Given the description of an element on the screen output the (x, y) to click on. 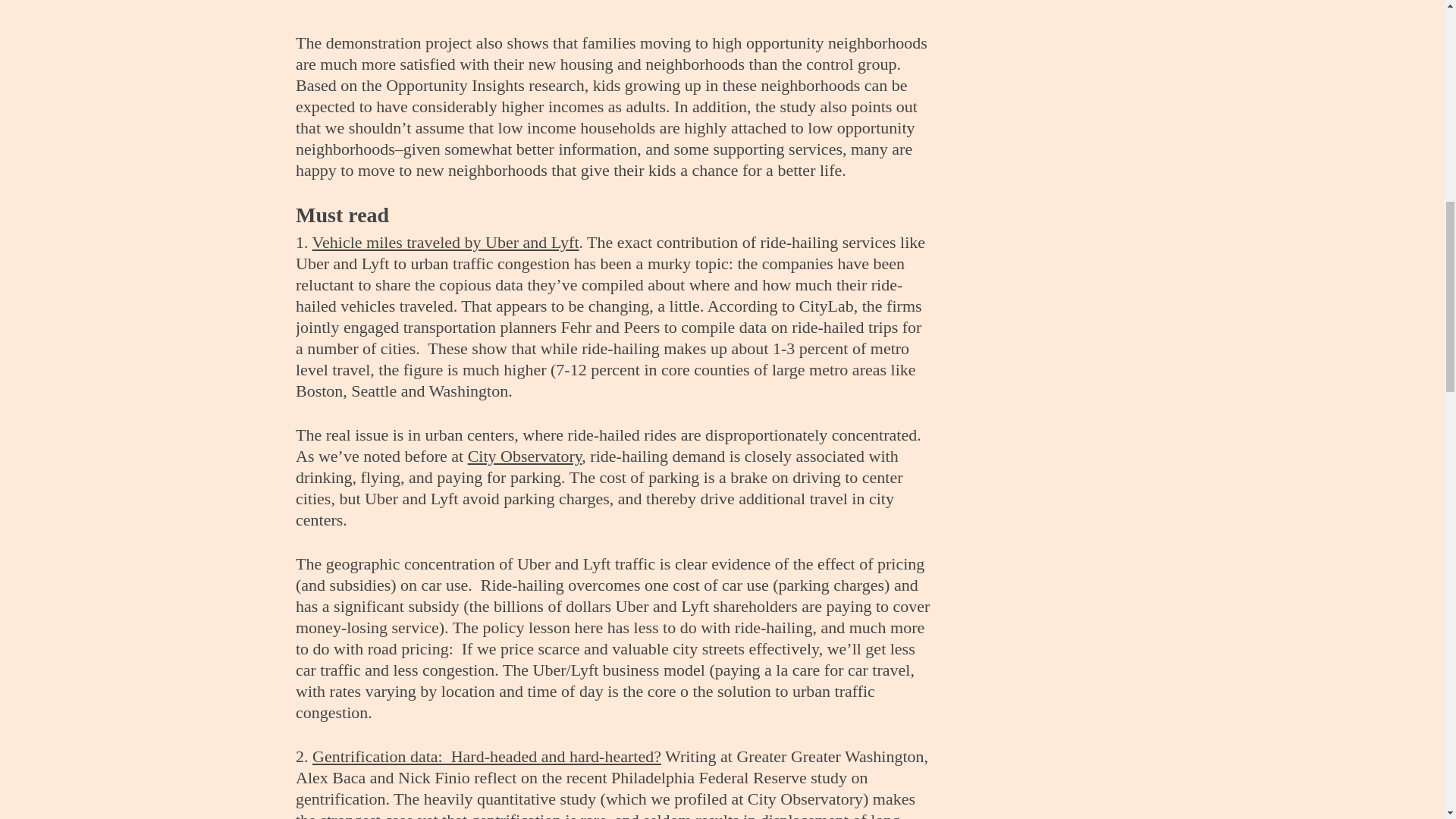
Gentrification data:  Hard-headed and hard-hearted? (487, 755)
City Observatory (524, 456)
Vehicle miles traveled by Uber and Lyft (446, 241)
